Given the description of an element on the screen output the (x, y) to click on. 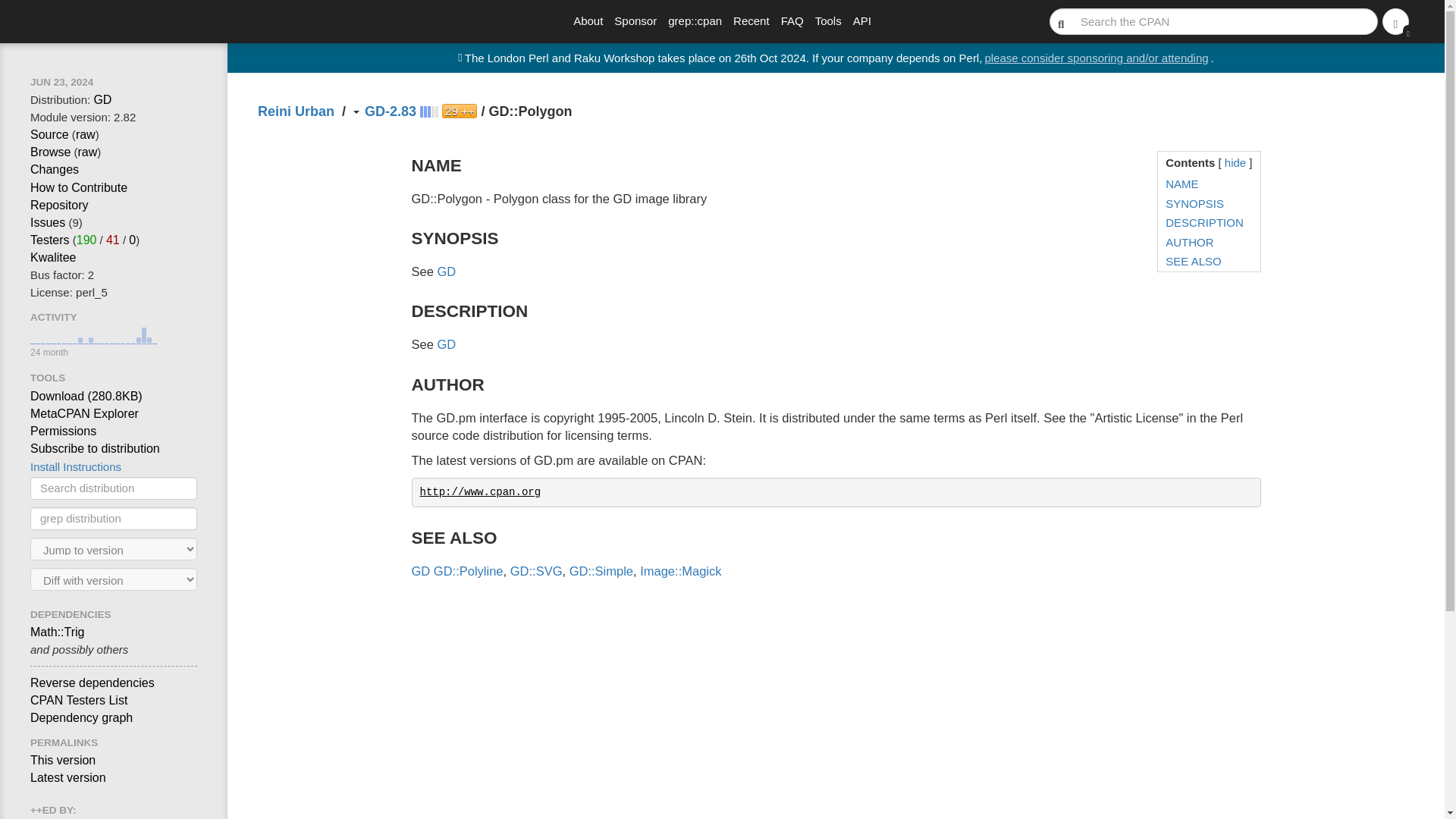
Add to favorites (459, 110)
MetaCPAN Explorer (84, 413)
Changes (54, 169)
grep::cpan (695, 21)
Matrix (49, 239)
About (587, 21)
Sponsor (635, 21)
Source (49, 133)
GD (102, 99)
Permissions (63, 431)
Repository (58, 205)
Issues (47, 222)
raw (87, 151)
Tools (828, 21)
23 Jun 2024 15:46:01 UTC (61, 81)
